Given the description of an element on the screen output the (x, y) to click on. 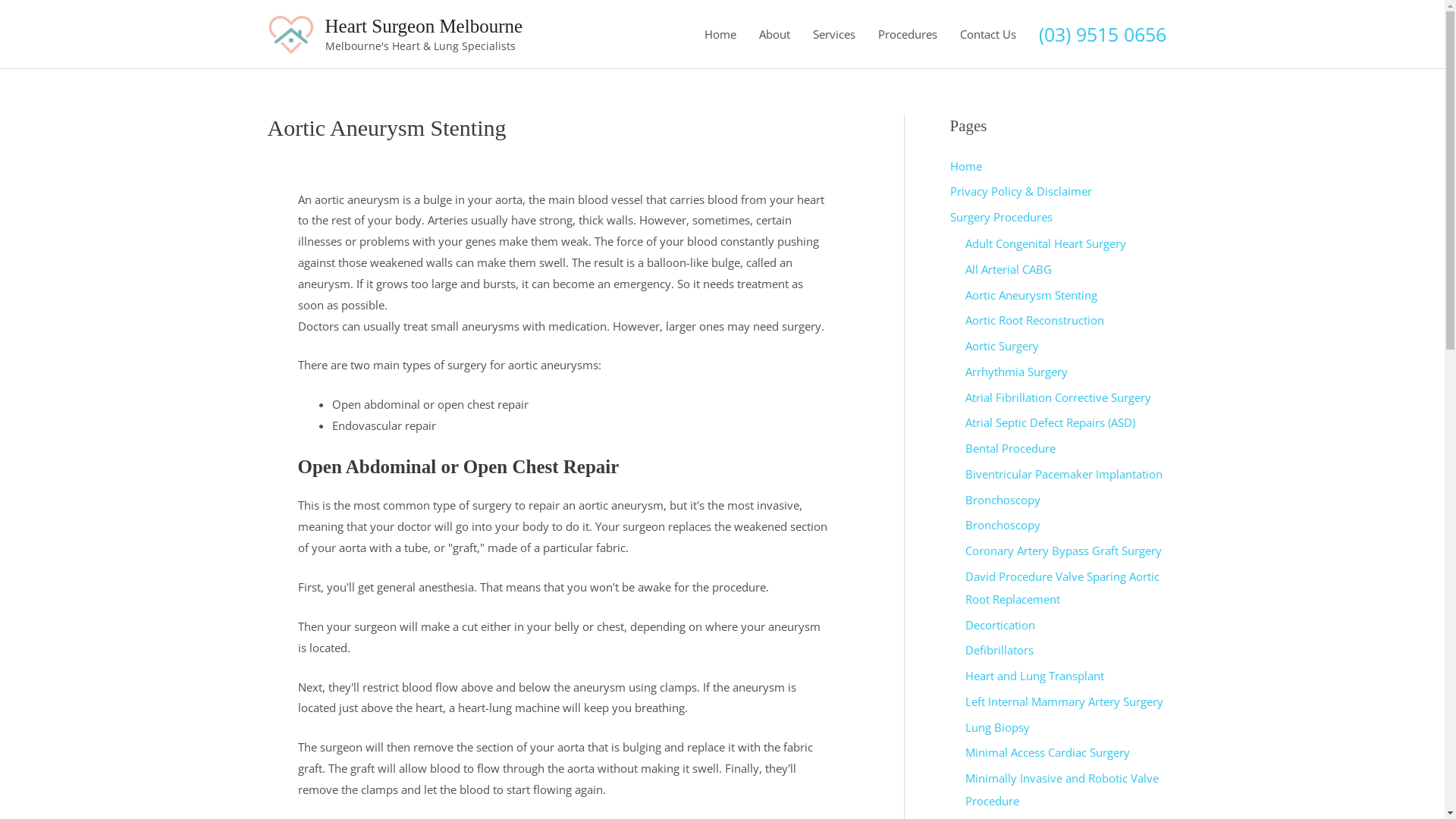
Bental Procedure Element type: text (1009, 447)
Defibrillators Element type: text (998, 649)
Arrhythmia Surgery Element type: text (1015, 371)
Aortic Surgery Element type: text (1001, 345)
Heart and Lung Transplant Element type: text (1033, 675)
Surgery Procedures Element type: text (1000, 216)
Coronary Artery Bypass Graft Surgery Element type: text (1062, 550)
Aortic Root Reconstruction Element type: text (1033, 319)
David Procedure Valve Sparing Aortic Root Replacement Element type: text (1061, 587)
Atrial Septic Defect Repairs (ASD) Element type: text (1049, 421)
Contact Us Element type: text (986, 33)
Heart Surgeon Melbourne Element type: text (423, 25)
Atrial Fibrillation Corrective Surgery Element type: text (1057, 396)
Left Internal Mammary Artery Surgery Element type: text (1063, 701)
Home Element type: text (965, 164)
Minimally Invasive and Robotic Valve Procedure Element type: text (1060, 789)
Minimal Access Cardiac Surgery Element type: text (1046, 751)
Decortication Element type: text (999, 624)
Aortic Aneurysm Stenting Element type: text (1030, 293)
All Arterial CABG Element type: text (1007, 268)
Adult Congenital Heart Surgery Element type: text (1044, 243)
Lung Biopsy Element type: text (996, 726)
Procedures Element type: text (906, 33)
Bronchoscopy Element type: text (1001, 498)
Privacy Policy & Disclaimer Element type: text (1020, 190)
Biventricular Pacemaker Implantation Element type: text (1062, 473)
Home Element type: text (720, 33)
About Element type: text (774, 33)
Bronchoscopy Element type: text (1001, 524)
Services Element type: text (833, 33)
